Given the description of an element on the screen output the (x, y) to click on. 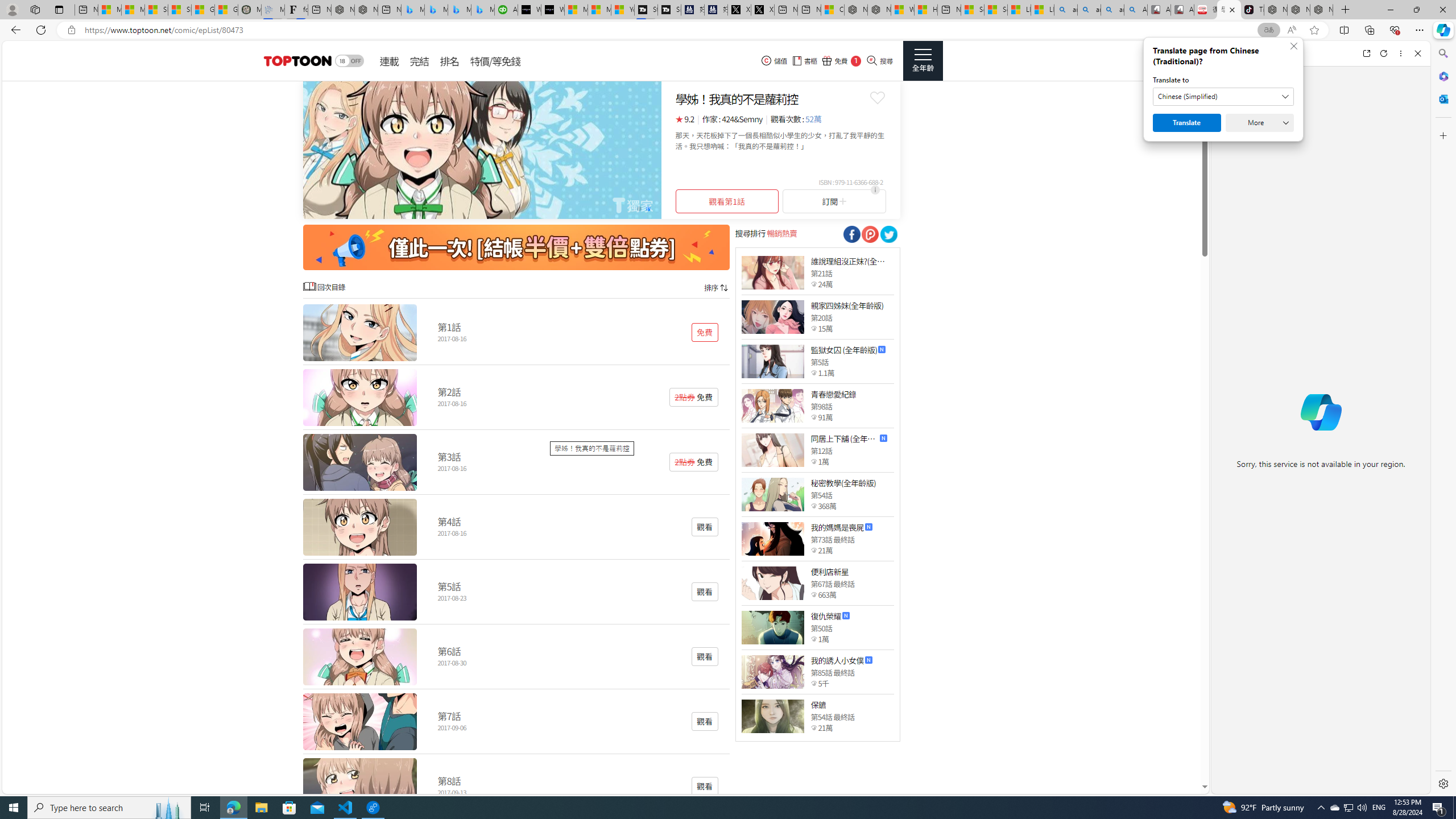
Microsoft Bing Travel - Stays in Bangkok, Bangkok, Thailand (435, 9)
Chat (1231, 52)
Customize (1442, 135)
